Given the description of an element on the screen output the (x, y) to click on. 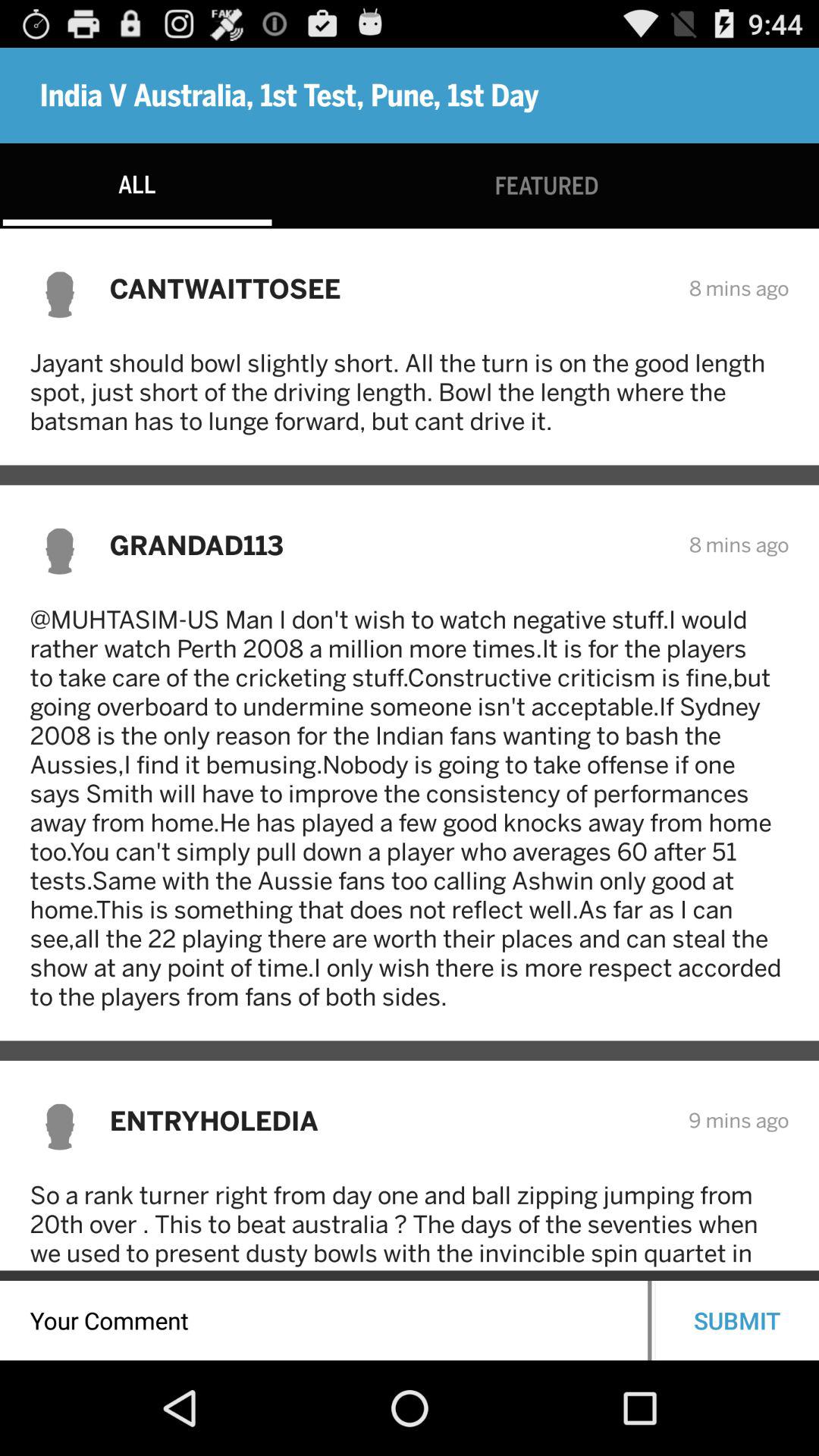
open the cantwaittosee (389, 288)
